Given the description of an element on the screen output the (x, y) to click on. 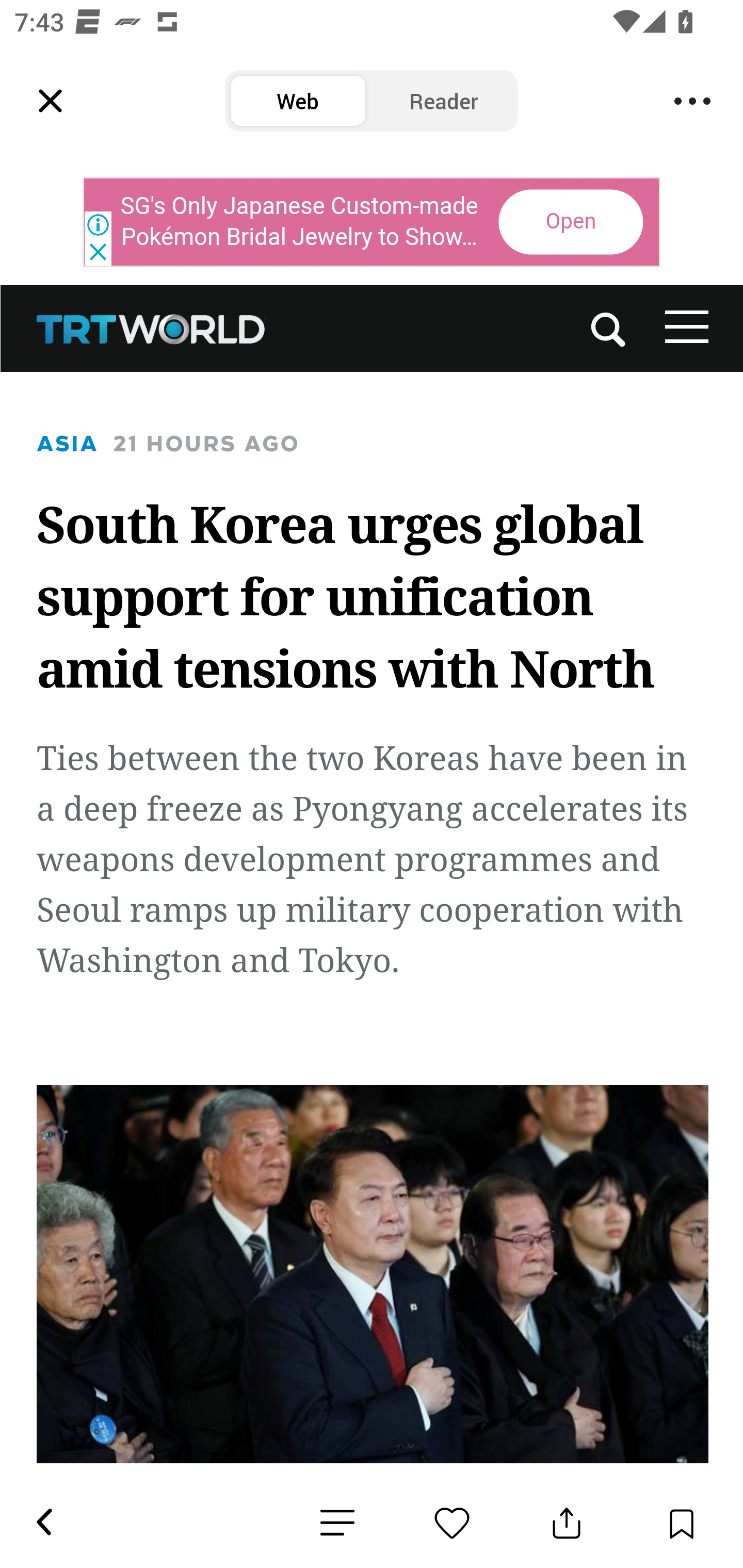
Leading Icon (50, 101)
Reader (443, 101)
Menu (692, 101)
TRT WORLD (151, 328)
ASIA (67, 443)
Back Button (43, 1523)
News Detail Emotion (451, 1523)
Share Button (566, 1523)
Save Button (680, 1523)
News Detail Emotion (337, 1523)
